Given the description of an element on the screen output the (x, y) to click on. 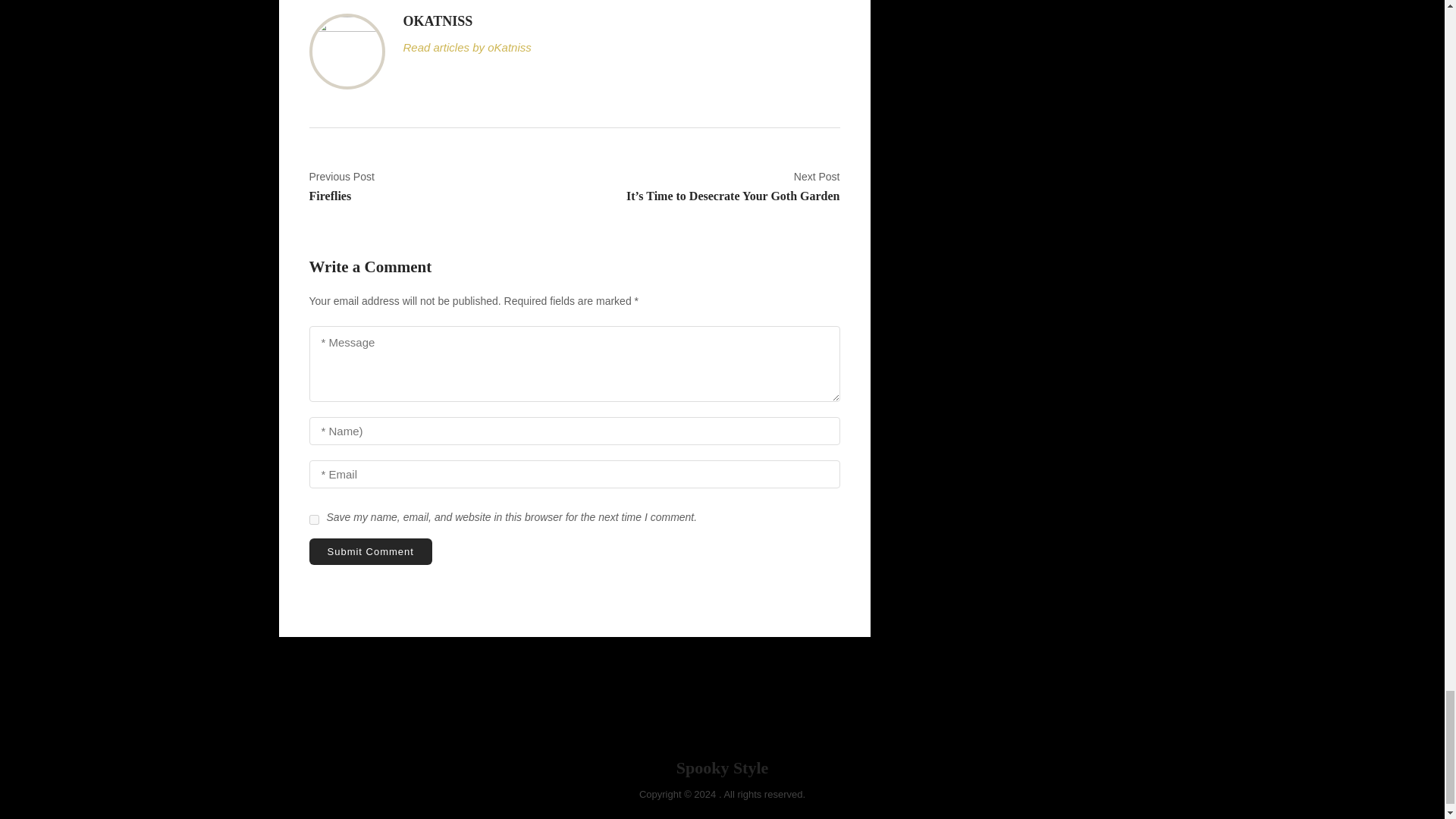
yes (313, 519)
Submit Comment (435, 186)
Submit Comment (370, 551)
Read articles by oKatniss (370, 551)
